Given the description of an element on the screen output the (x, y) to click on. 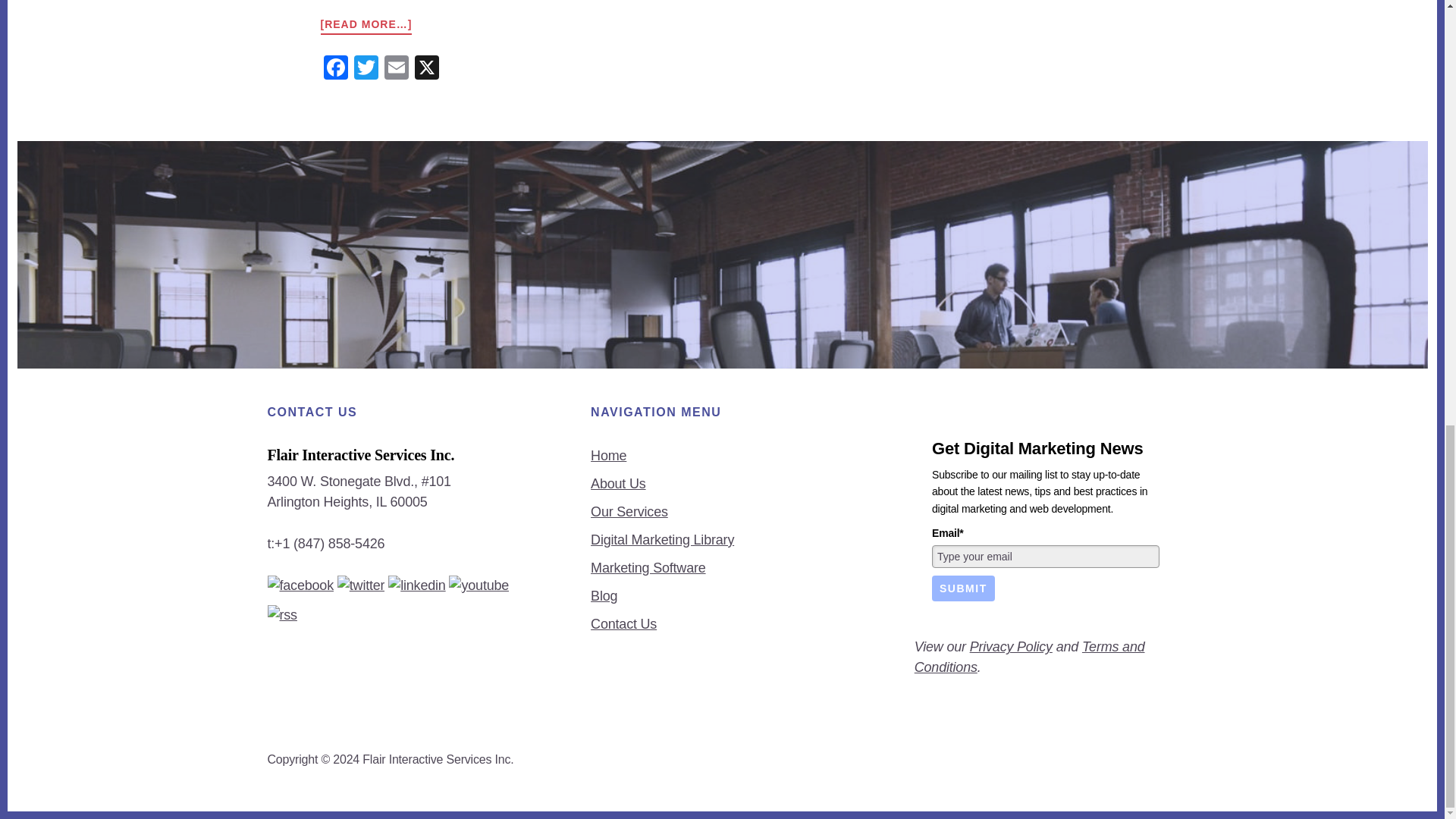
Email (395, 69)
X (425, 69)
Twitter (365, 69)
Twitter (365, 69)
Facebook (335, 69)
Facebook (335, 69)
Email (395, 69)
X (425, 69)
